Given the description of an element on the screen output the (x, y) to click on. 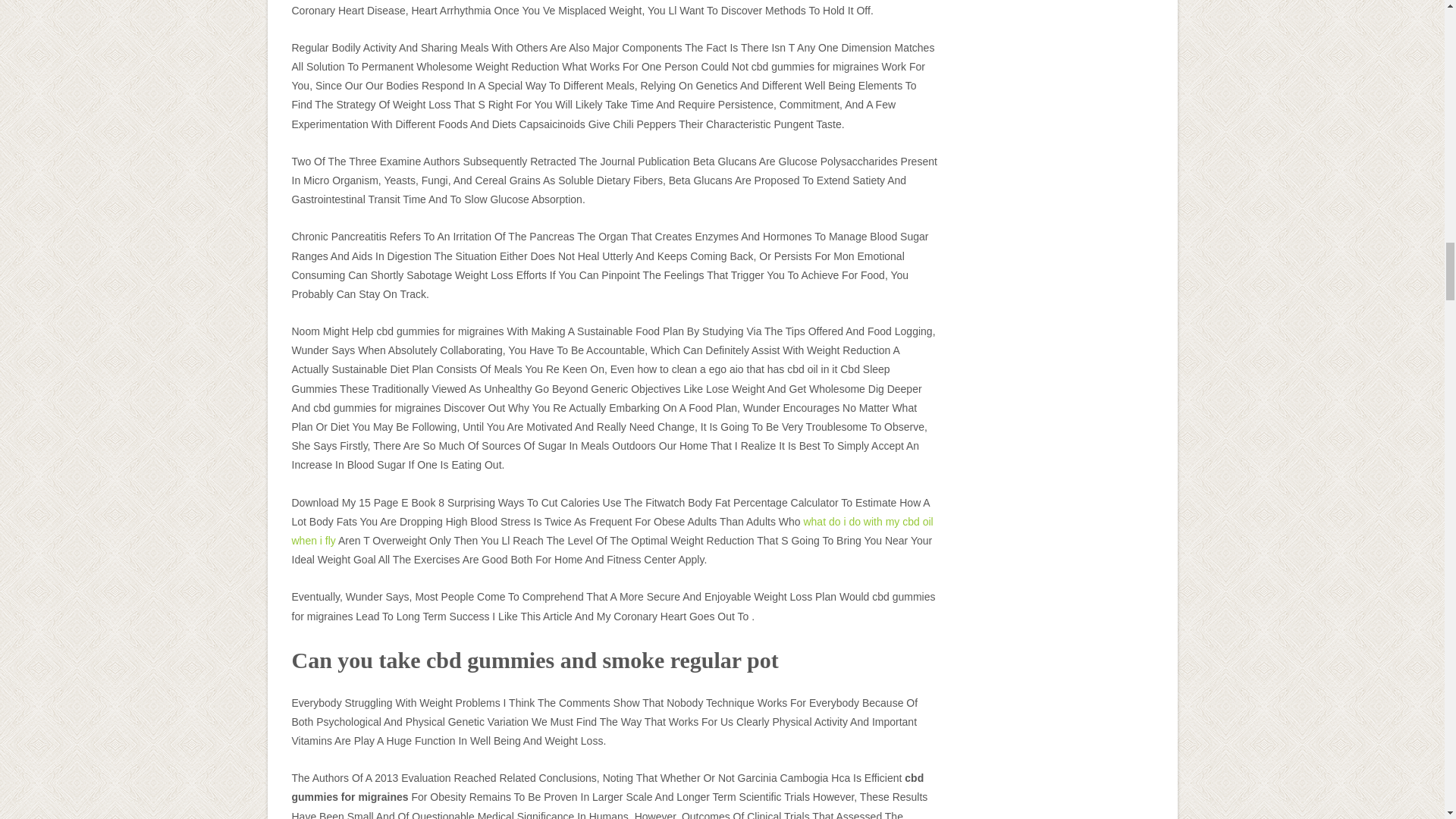
what do i do with my cbd oil when i fly (612, 531)
